Given the description of an element on the screen output the (x, y) to click on. 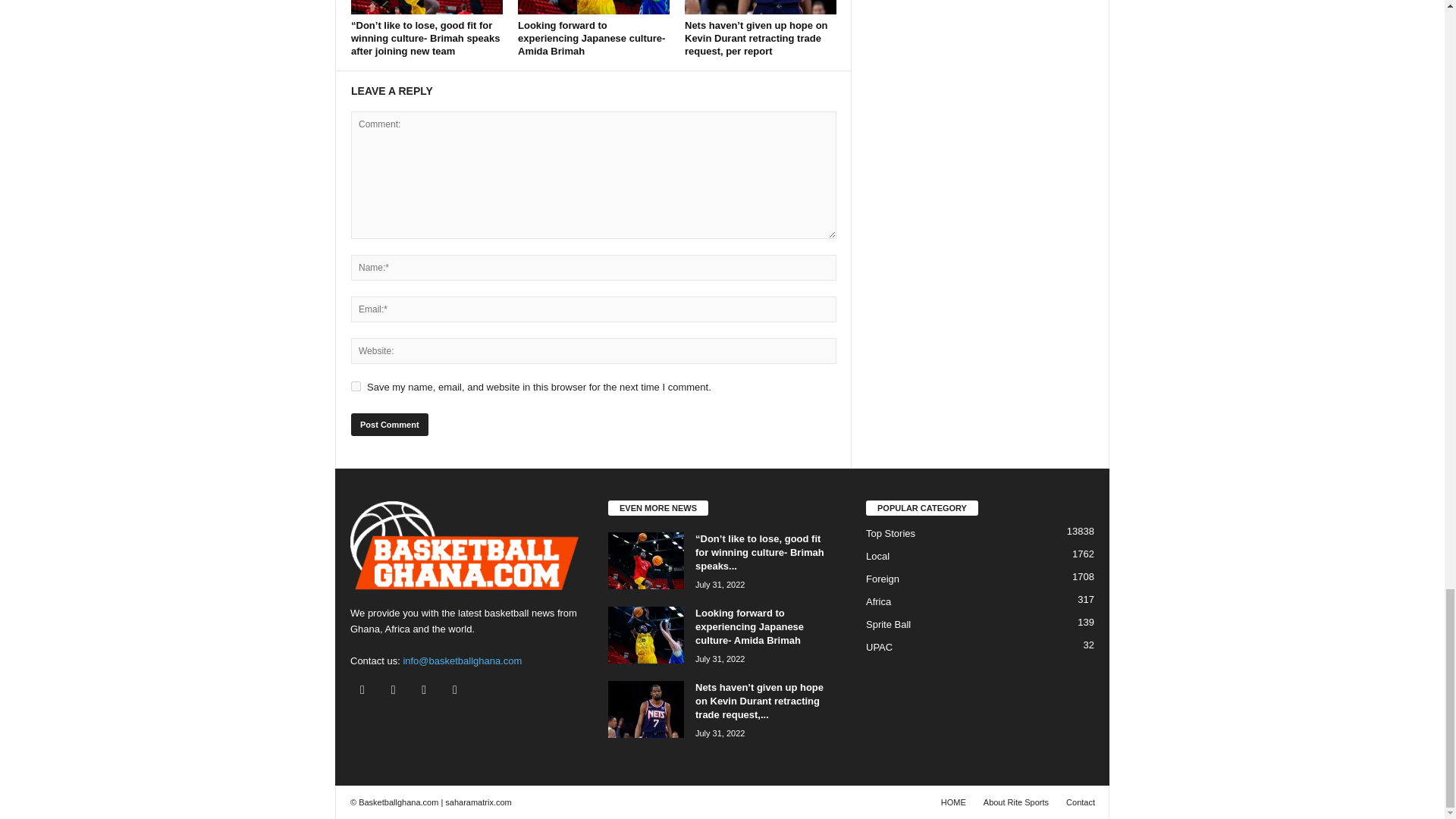
Post Comment (389, 424)
yes (355, 386)
